Given the description of an element on the screen output the (x, y) to click on. 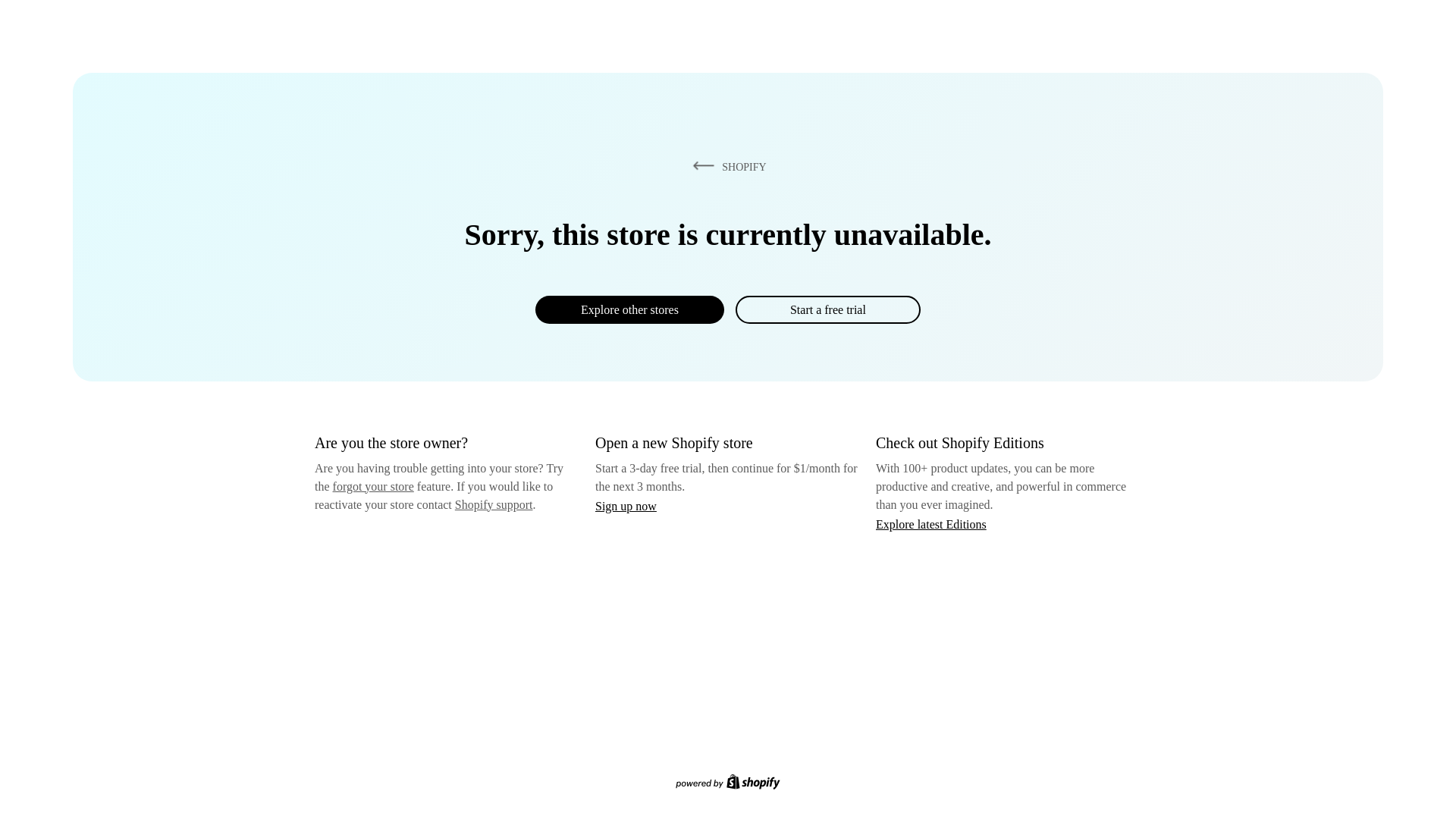
Shopify support (493, 504)
SHOPIFY (726, 166)
Start a free trial (827, 309)
Explore latest Editions (931, 523)
forgot your store (373, 486)
Explore other stores (629, 309)
Sign up now (625, 505)
